Given the description of an element on the screen output the (x, y) to click on. 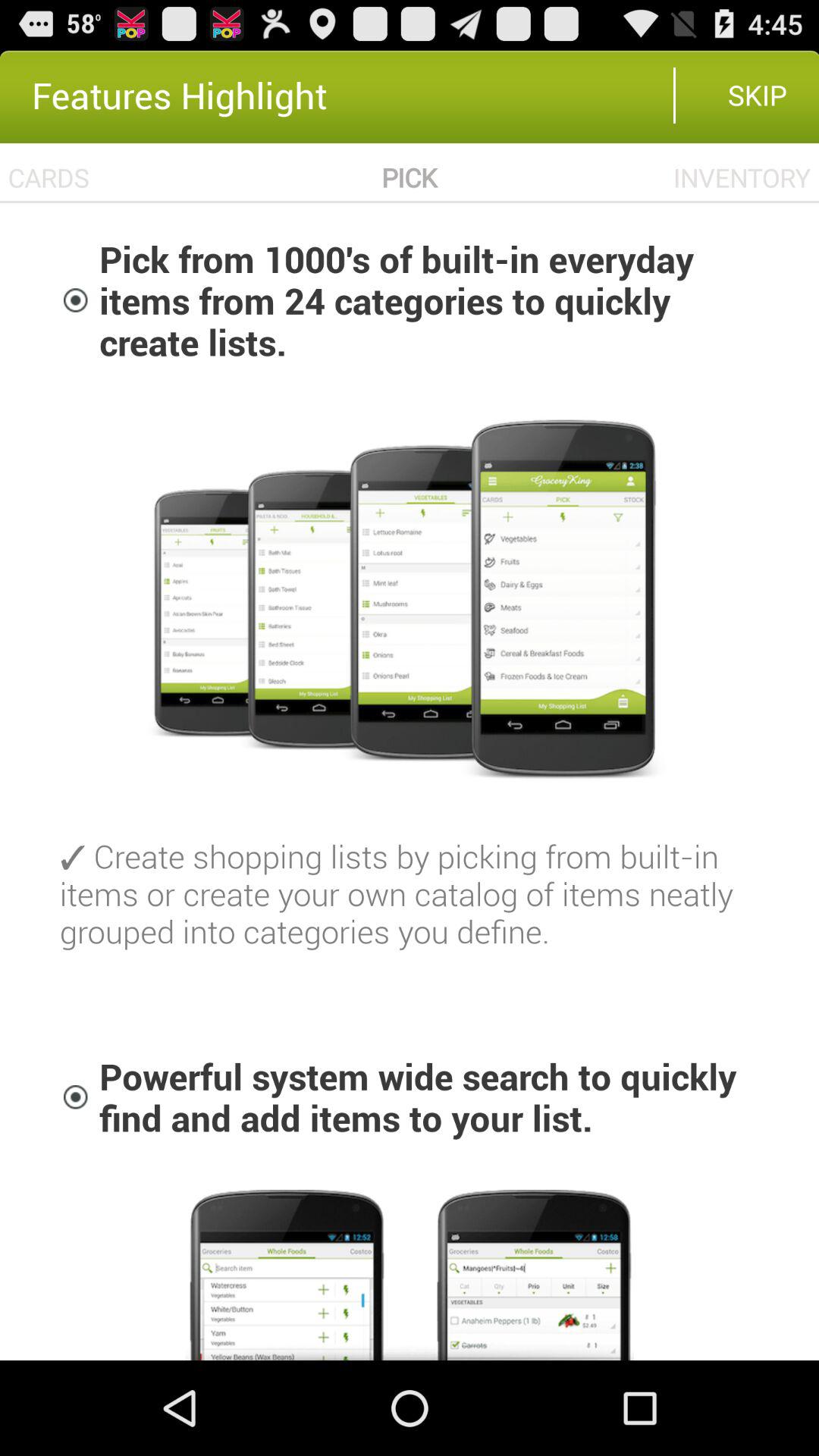
turn off the skip item (757, 95)
